Given the description of an element on the screen output the (x, y) to click on. 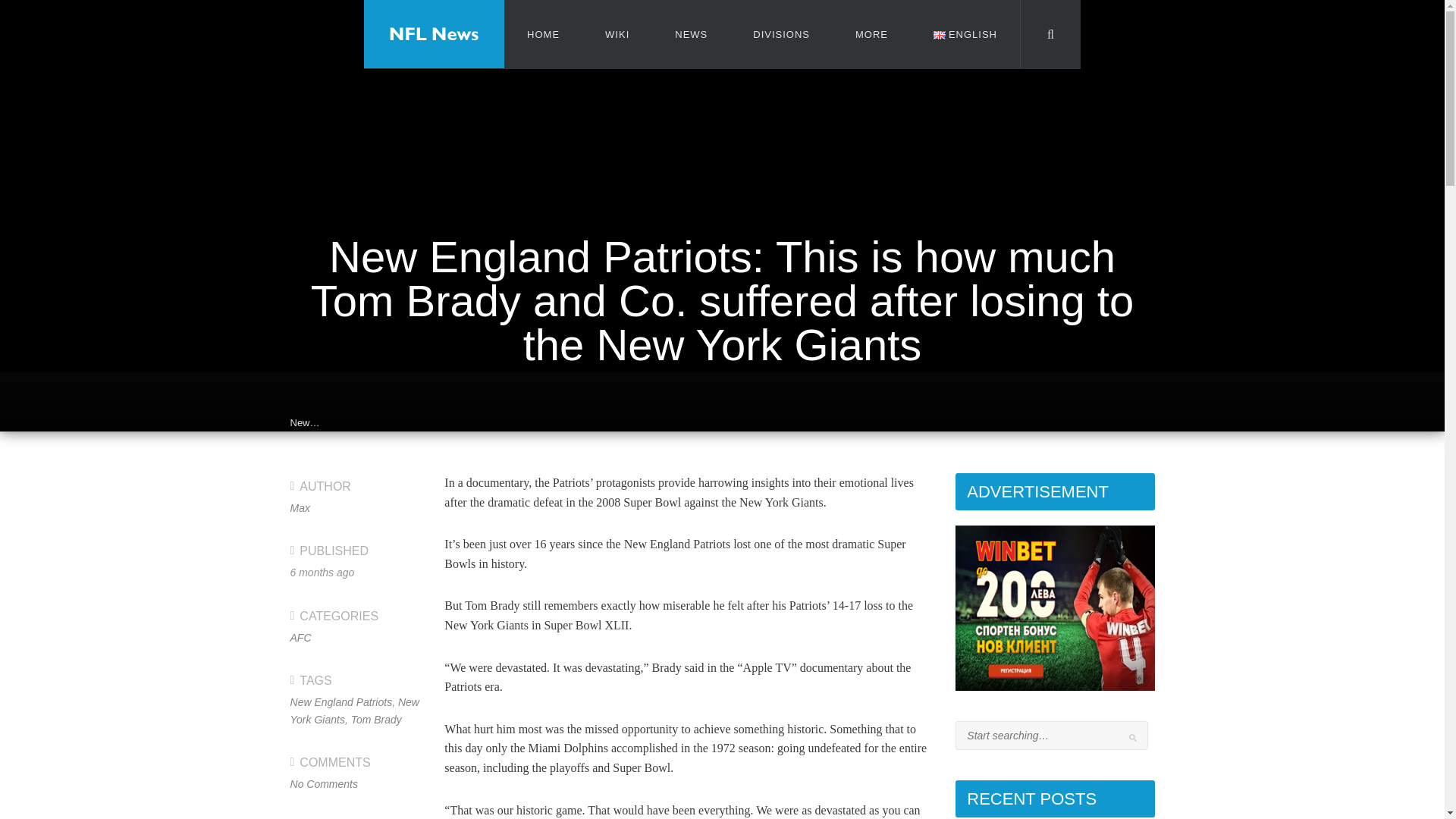
HOME (542, 33)
NEWS (691, 33)
WIKI (617, 33)
NFL News (433, 33)
Posts by Max (299, 508)
DIVISIONS (781, 33)
